Given the description of an element on the screen output the (x, y) to click on. 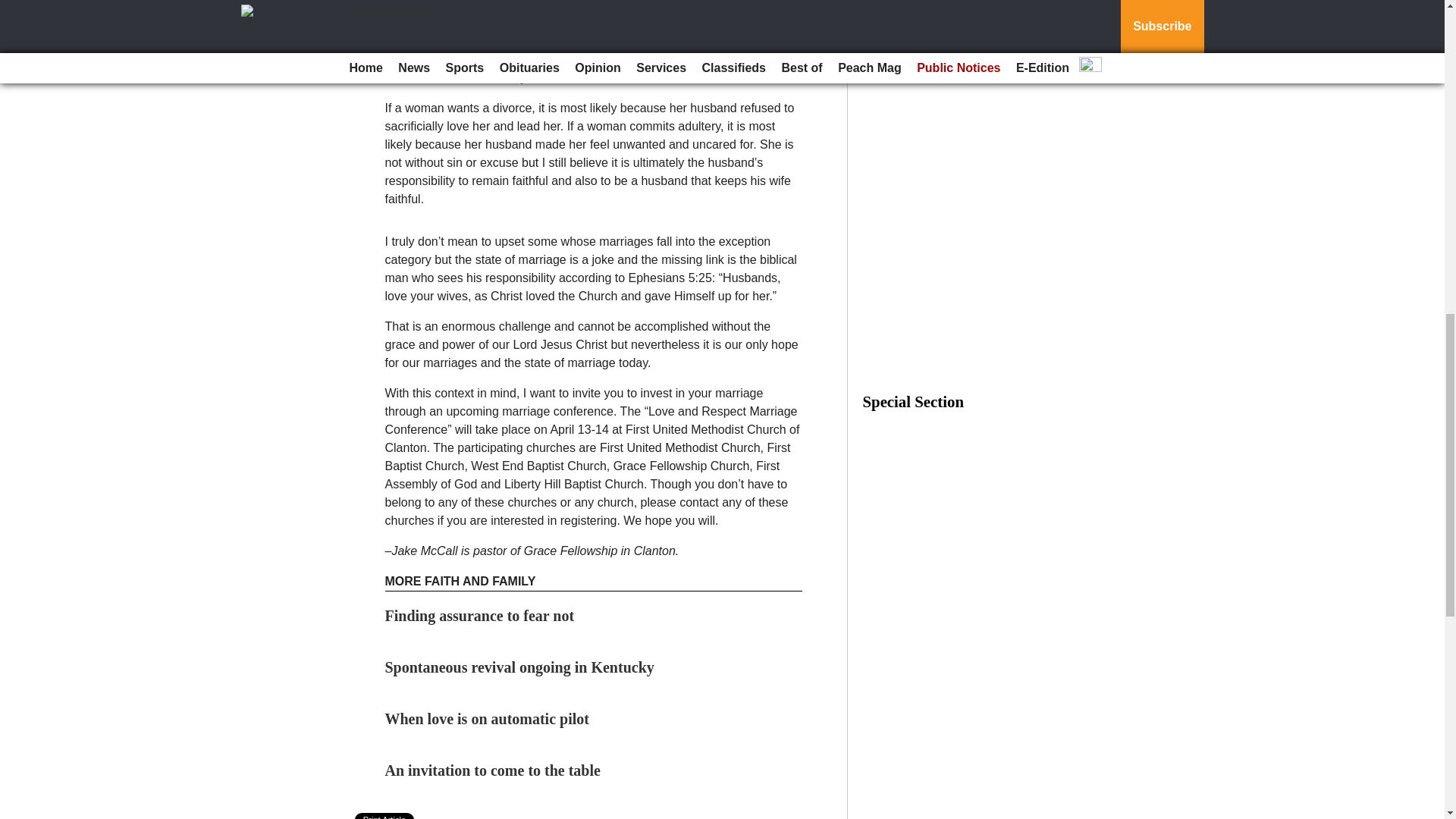
An invitation to come to the table (492, 770)
Finding assurance to fear not (480, 615)
Print Article (384, 816)
An invitation to come to the table (492, 770)
Spontaneous revival ongoing in Kentucky (519, 667)
When love is on automatic pilot (487, 718)
Spontaneous revival ongoing in Kentucky (519, 667)
Finding assurance to fear not (480, 615)
When love is on automatic pilot (487, 718)
